Given the description of an element on the screen output the (x, y) to click on. 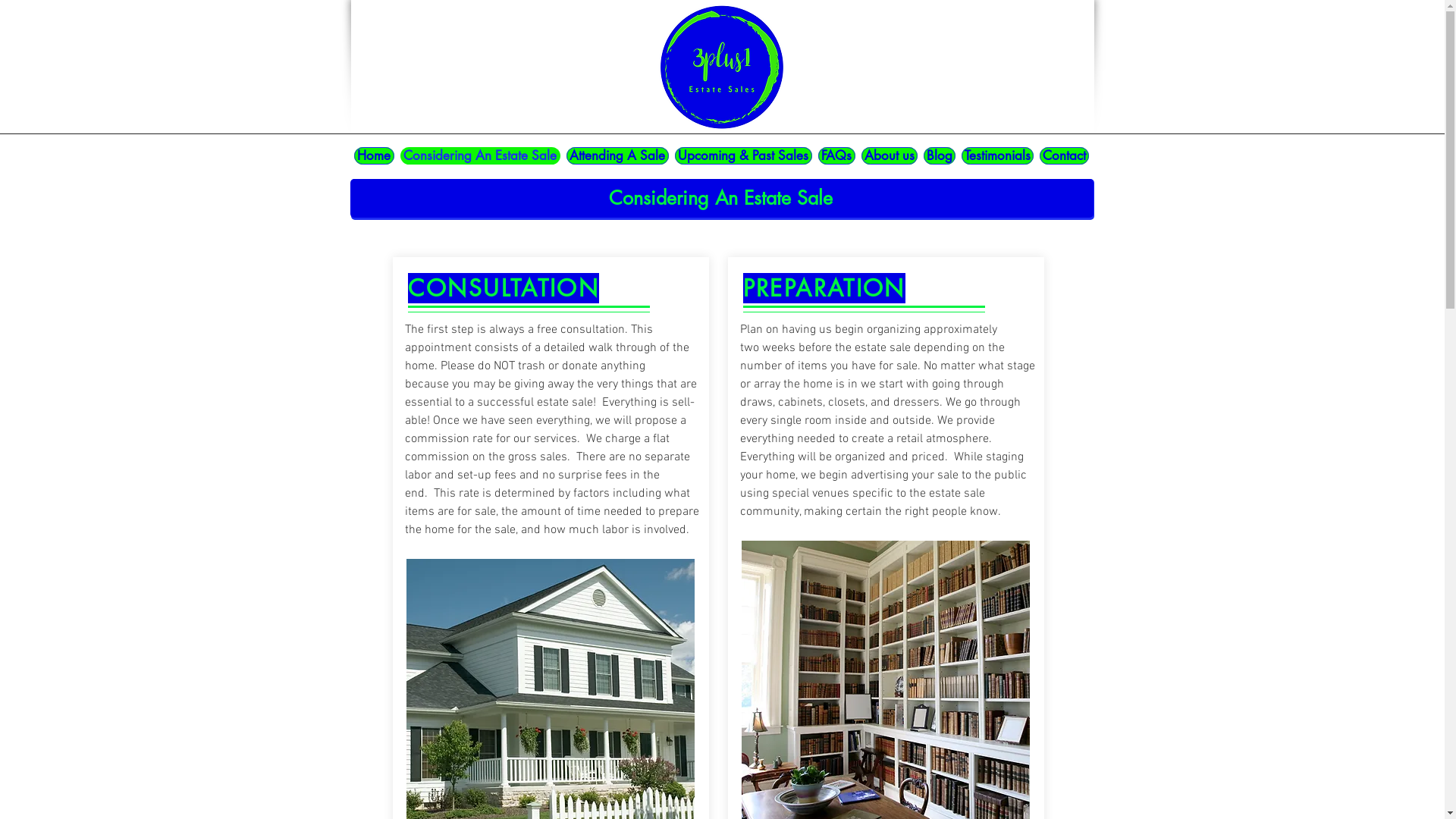
FAQs Element type: text (835, 155)
Considering An Estate Sale Element type: text (480, 155)
Home Element type: text (373, 155)
Contact Element type: text (1063, 155)
Testimonials Element type: text (997, 155)
Blog Element type: text (939, 155)
Attending A Sale Element type: text (616, 155)
Upcoming & Past Sales Element type: text (743, 155)
About us Element type: text (889, 155)
